Given the description of an element on the screen output the (x, y) to click on. 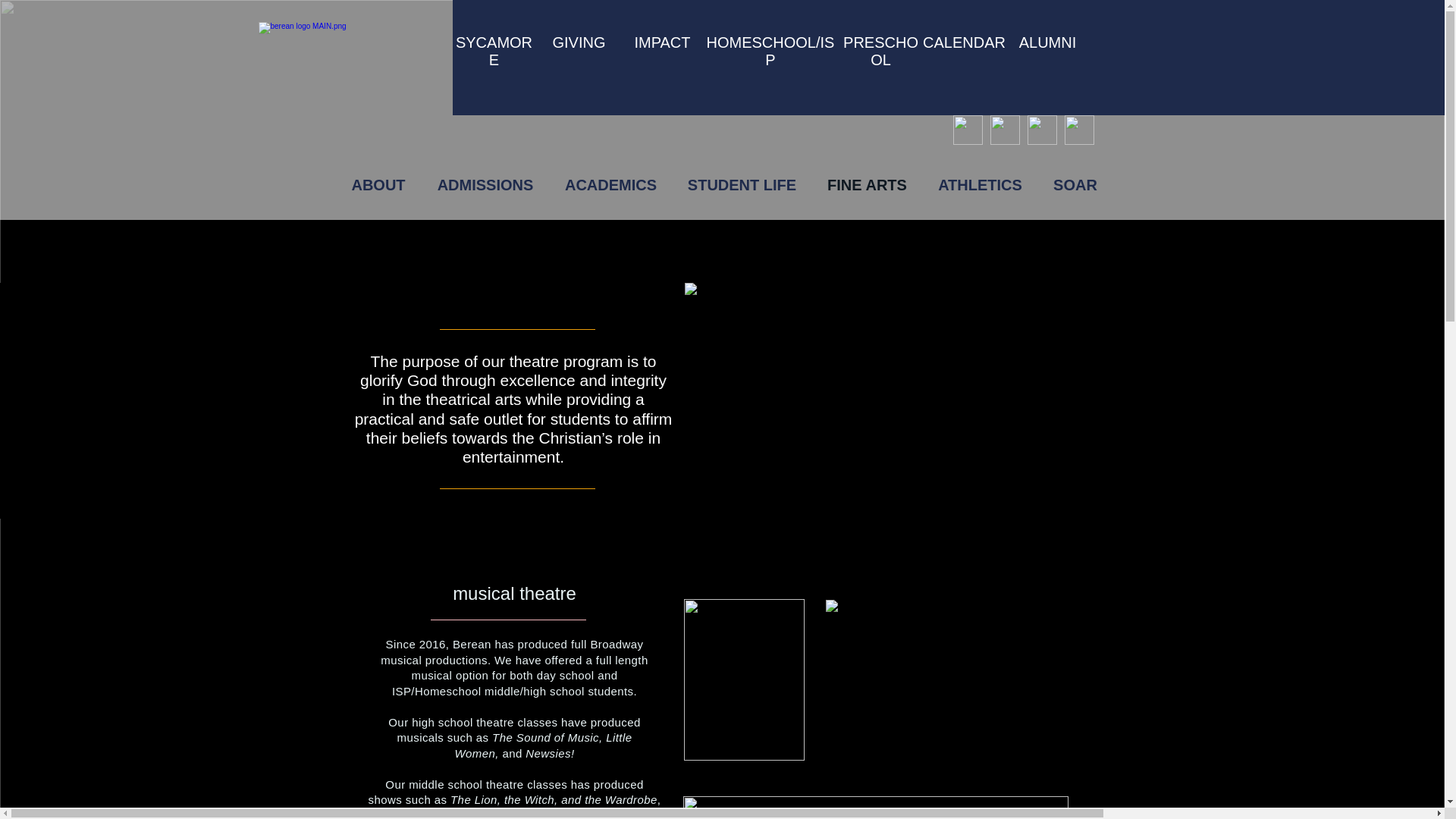
CALENDAR (964, 42)
IMPACT (661, 42)
ADMISSIONS (486, 184)
PRESCHOOL (880, 50)
ALUMNI (1048, 42)
ABOUT (377, 184)
newsies.profile.jpg (874, 807)
ACADEMICS (609, 184)
SYCAMORE (493, 50)
GIVING (578, 42)
STUDENT LIFE (740, 184)
